Given the description of an element on the screen output the (x, y) to click on. 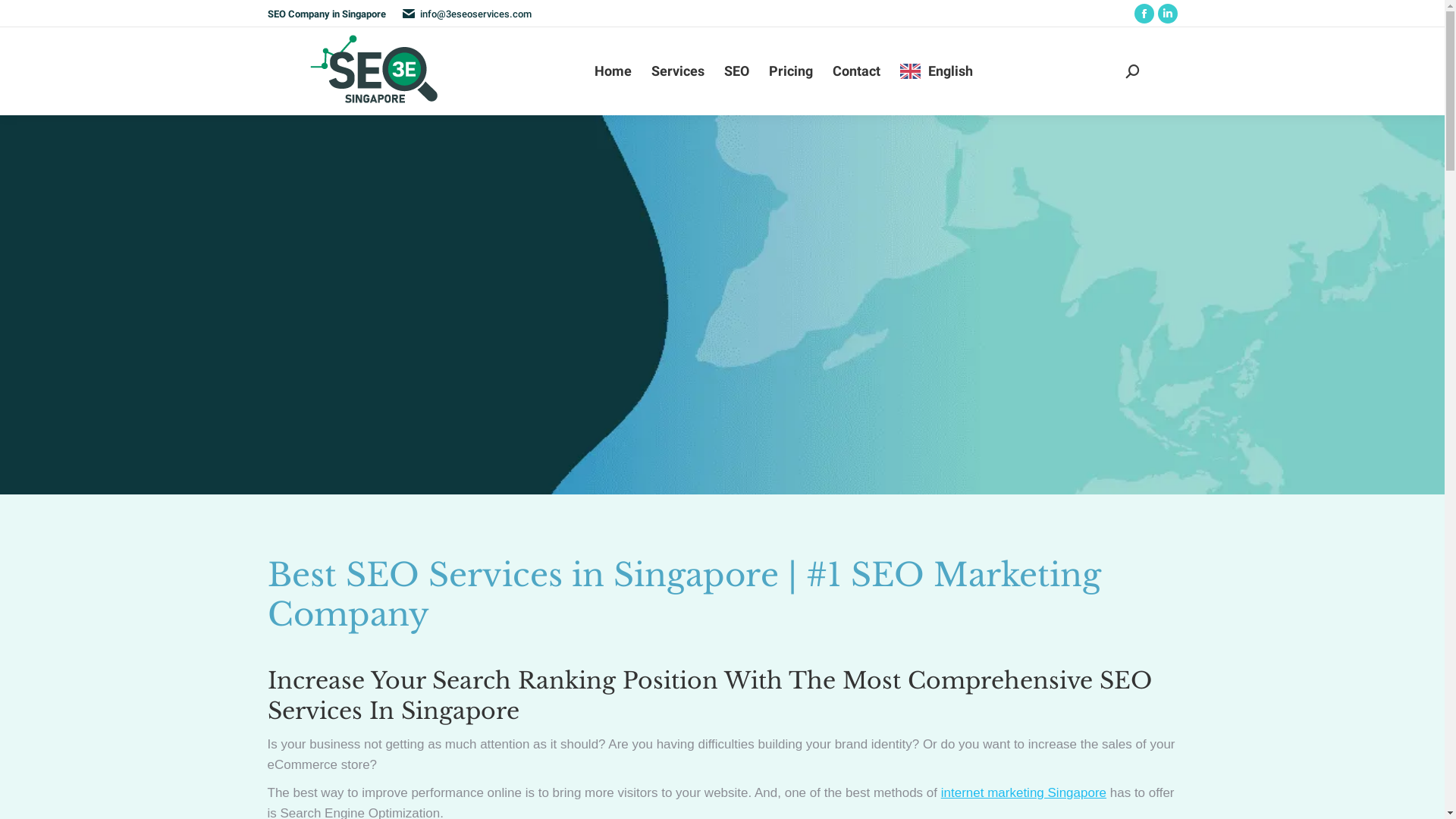
English Element type: text (936, 71)
Facebook page opens in new window Element type: text (1144, 13)
Contact Element type: text (855, 71)
Linkedin page opens in new window Element type: text (1166, 13)
internet marketing Singapore Element type: text (1023, 792)
Services Element type: text (677, 71)
Home Element type: text (611, 71)
Go! Element type: text (22, 15)
Pricing Element type: text (790, 71)
info@3eseoservices.com Element type: text (475, 13)
SEO Element type: text (736, 71)
